Given the description of an element on the screen output the (x, y) to click on. 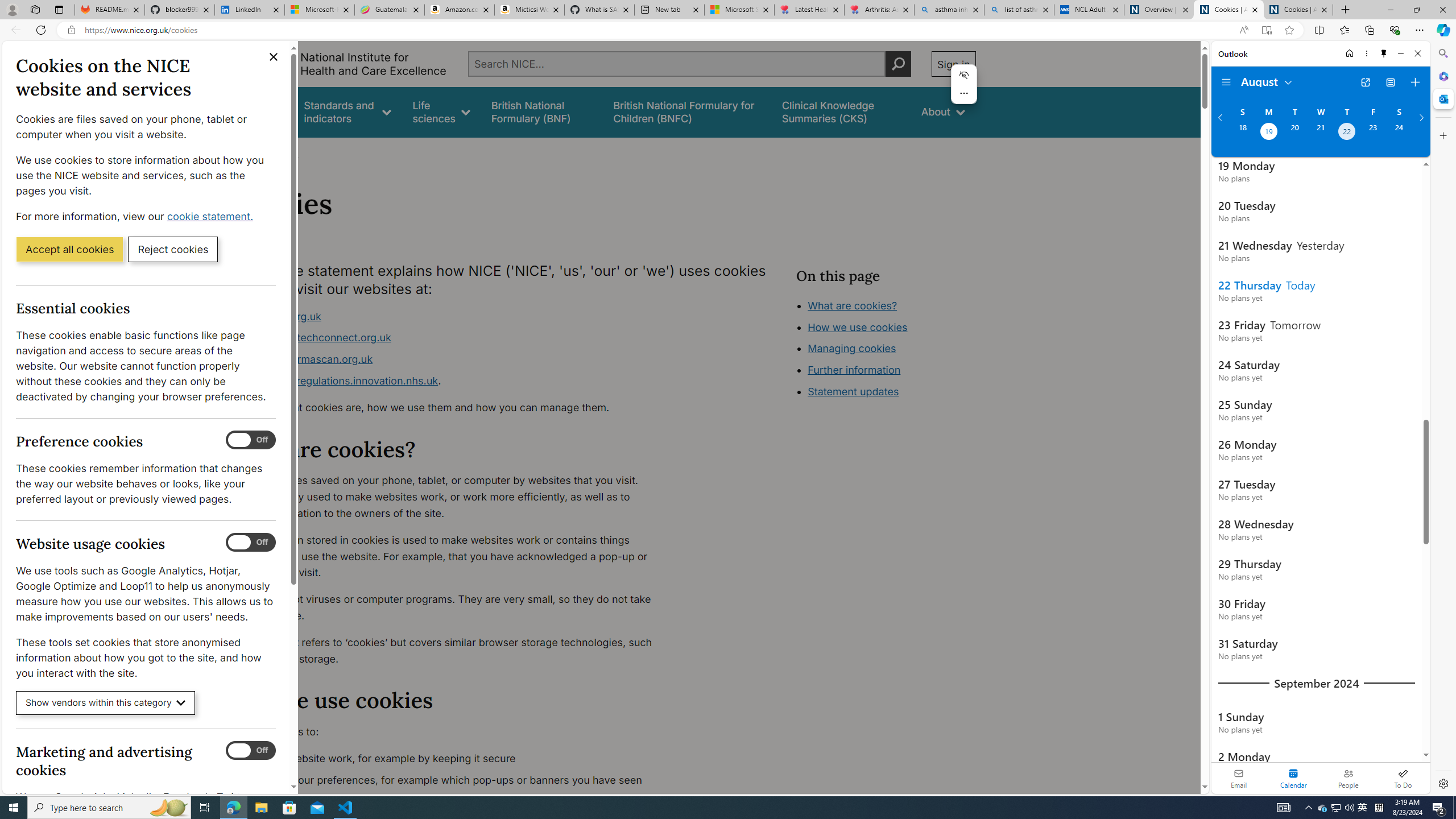
Thursday, August 22, 2024. Today.  (1346, 132)
Friday, August 23, 2024.  (1372, 132)
More actions (964, 93)
Close cookie banner (273, 56)
To Do (1402, 777)
Marketing and advertising cookies (250, 750)
